Given the description of an element on the screen output the (x, y) to click on. 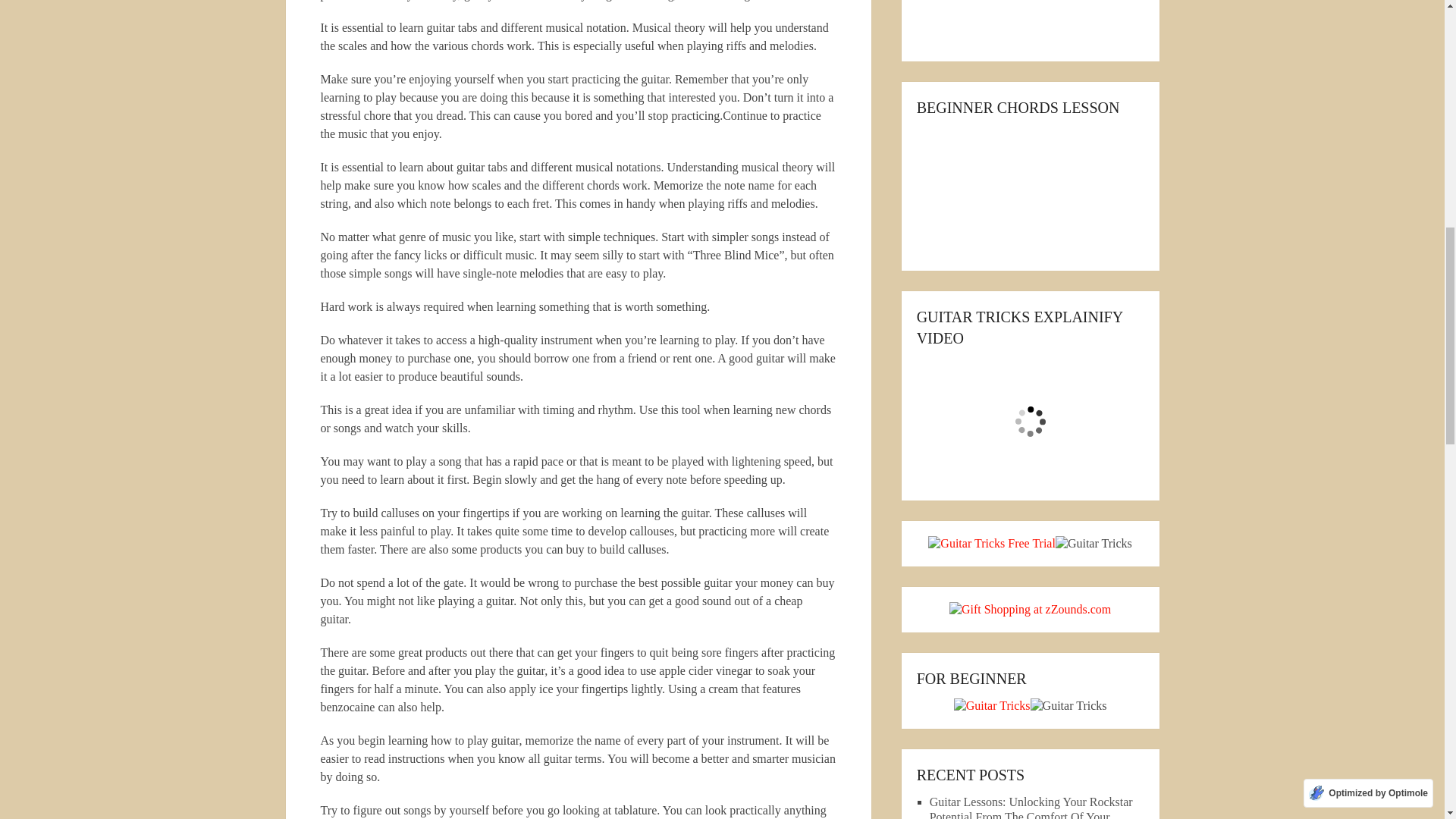
Guitar Tricks Free Trial (991, 543)
Guitar Tricks (991, 705)
